Given the description of an element on the screen output the (x, y) to click on. 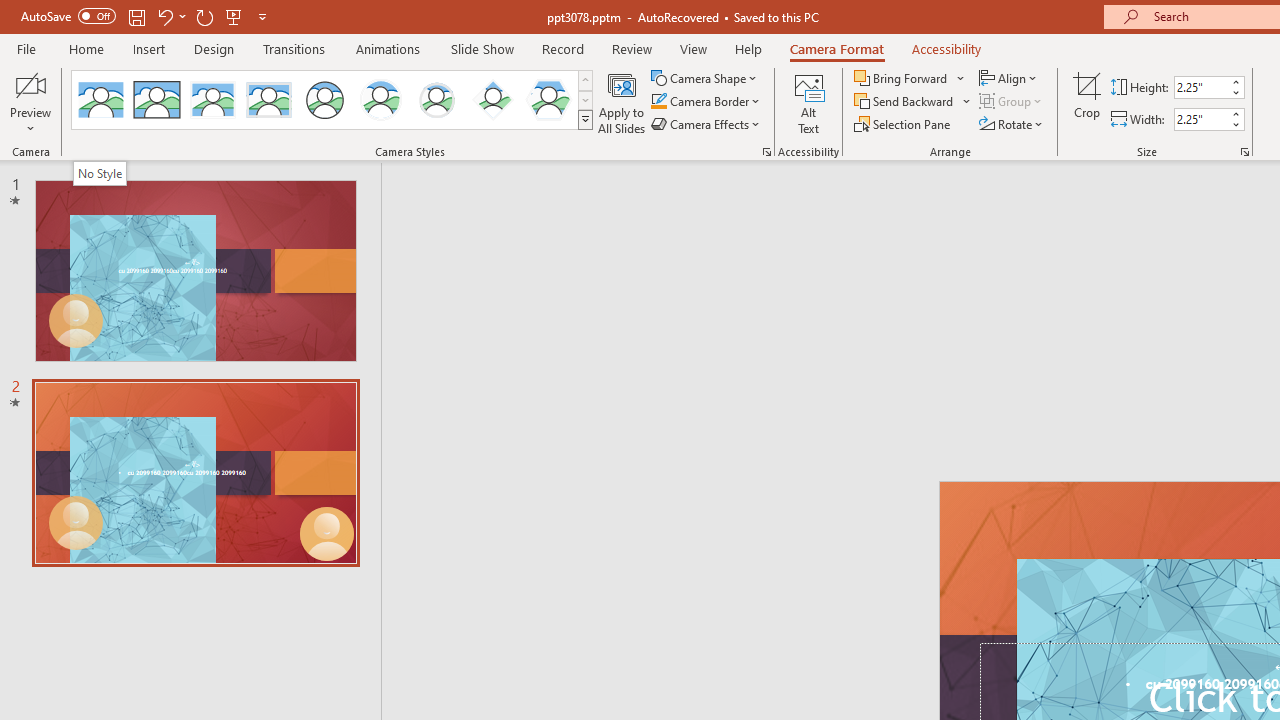
System (10, 11)
Crop (1087, 102)
Bring Forward (910, 78)
Center Shadow Rectangle (212, 100)
Undo (170, 15)
Cameo Width (1201, 119)
Alt Text (808, 102)
Simple Frame Circle (324, 100)
Align (1009, 78)
Camera Shape (705, 78)
AutomationID: CameoStylesGallery (333, 99)
Slide (195, 473)
Record (562, 48)
Camera Effects (706, 124)
Simple Frame Rectangle (157, 100)
